Given the description of an element on the screen output the (x, y) to click on. 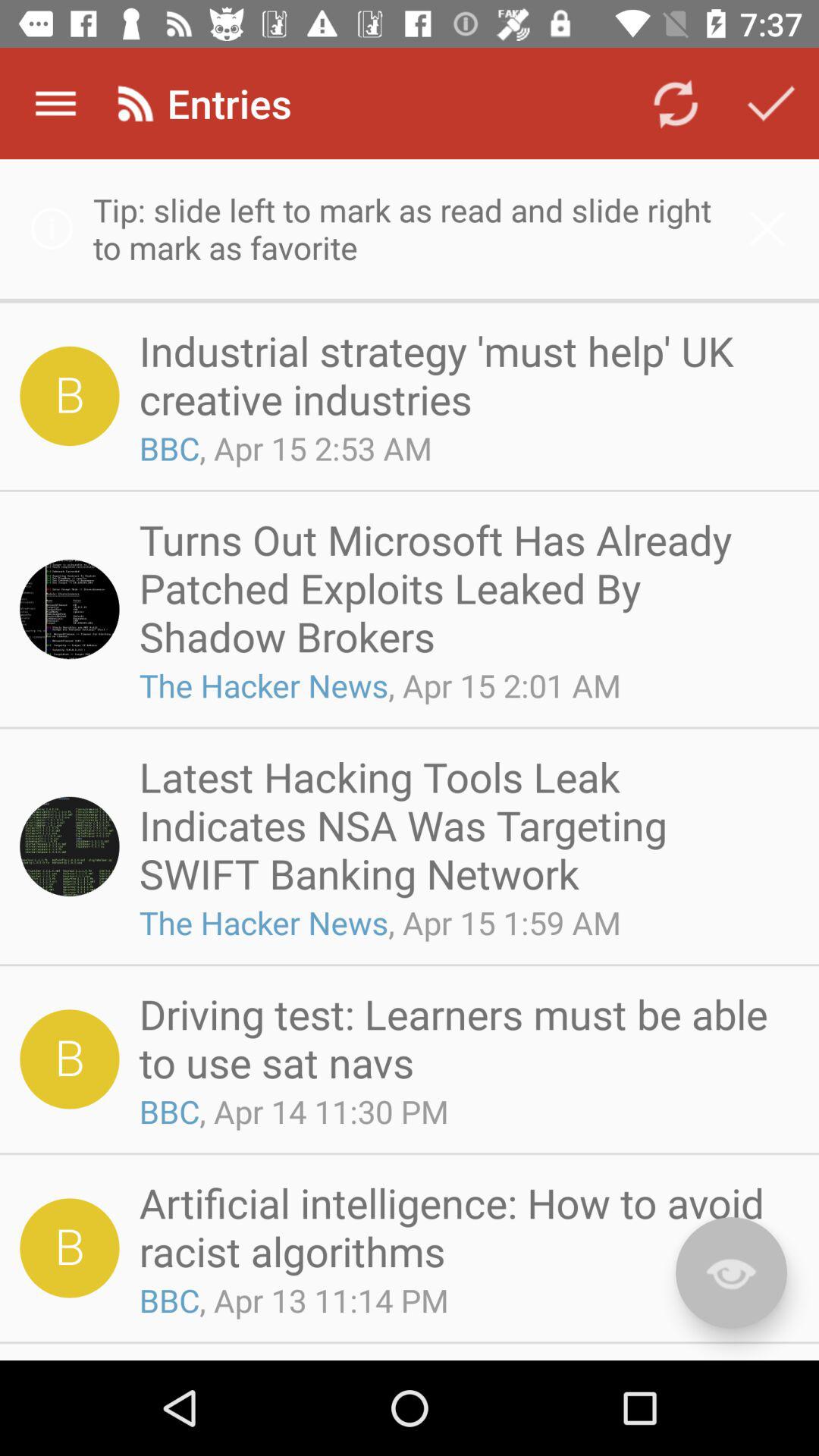
launch icon above the the hacker news (463, 587)
